Given the description of an element on the screen output the (x, y) to click on. 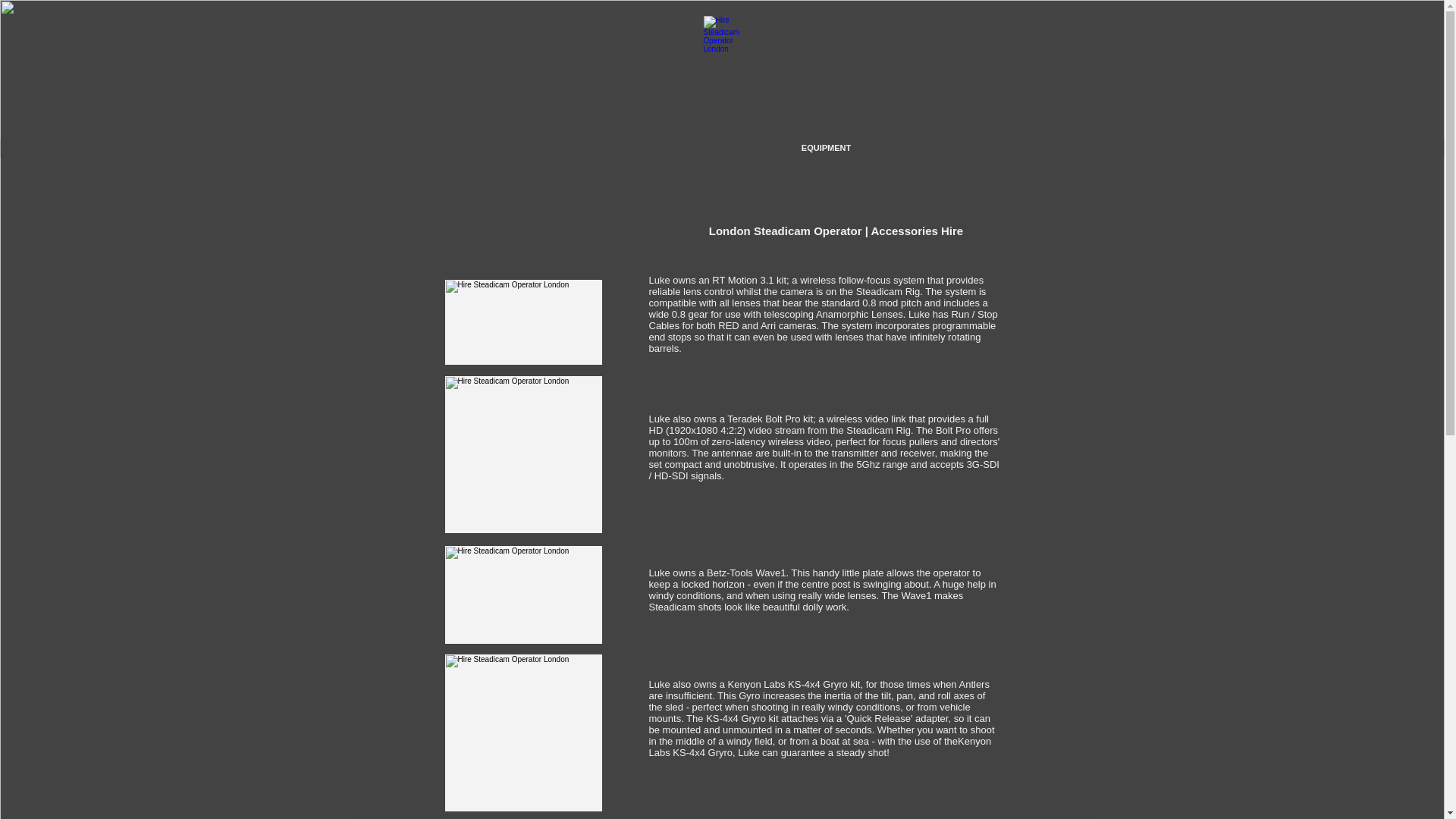
Hire Steadicam Operator London (522, 732)
CREDITS (723, 147)
EQUIPMENT (825, 147)
Luke Oliver (890, 88)
Hire Steadicam Operator London (522, 594)
MUSIC PROMO (621, 147)
COMMERCIAL (518, 147)
NARRATIVE (413, 147)
ABOUT (928, 147)
Hire Steadicam Operator London (522, 454)
